Given the description of an element on the screen output the (x, y) to click on. 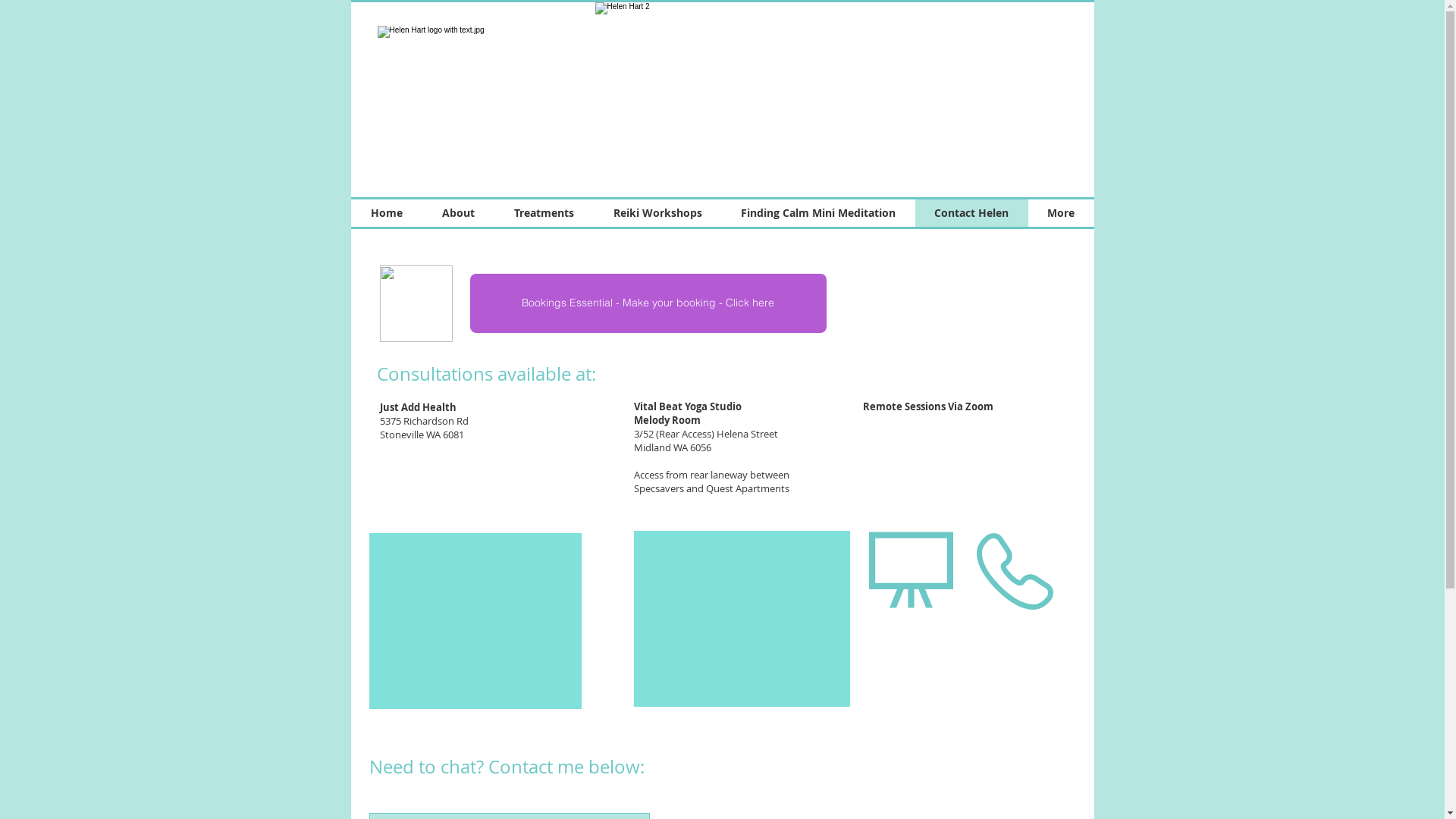
Finding Calm Mini Meditation Element type: text (818, 212)
Google Maps Element type: hover (740, 618)
Bookings Essential - Make your booking - Click here Element type: text (648, 302)
Home Element type: text (385, 212)
Google Maps Element type: hover (475, 620)
Reiki Workshops Element type: text (657, 212)
About Element type: text (457, 212)
Contact Helen Element type: text (970, 212)
Treatments Element type: text (543, 212)
